Given the description of an element on the screen output the (x, y) to click on. 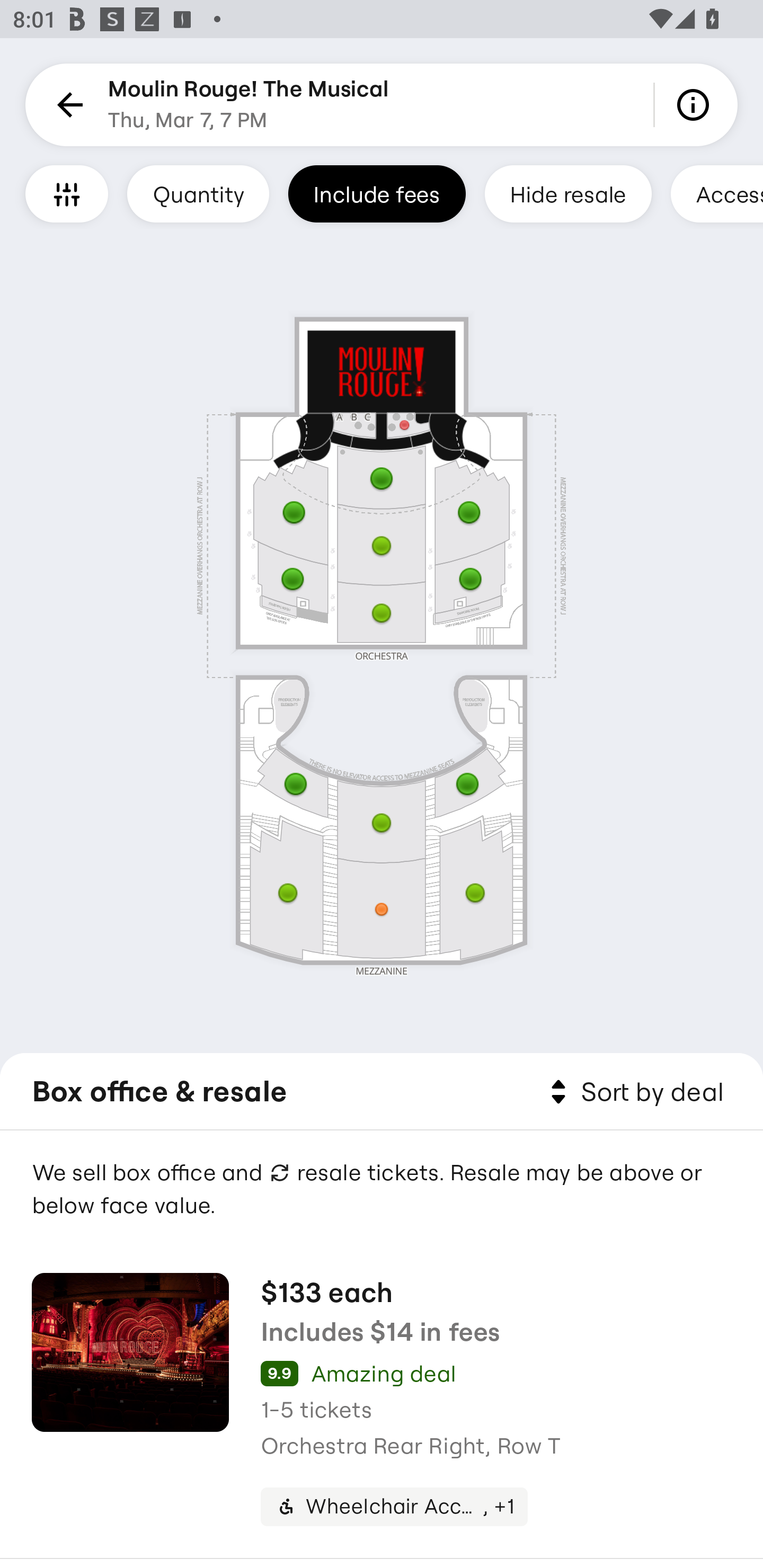
Back (66, 104)
Moulin Rouge! The Musical Thu, Mar 7, 7 PM (248, 104)
Info (695, 104)
Filters and Accessible Seating (66, 193)
Quantity (198, 193)
Include fees (376, 193)
Hide resale (567, 193)
Sort by deal (633, 1091)
